Given the description of an element on the screen output the (x, y) to click on. 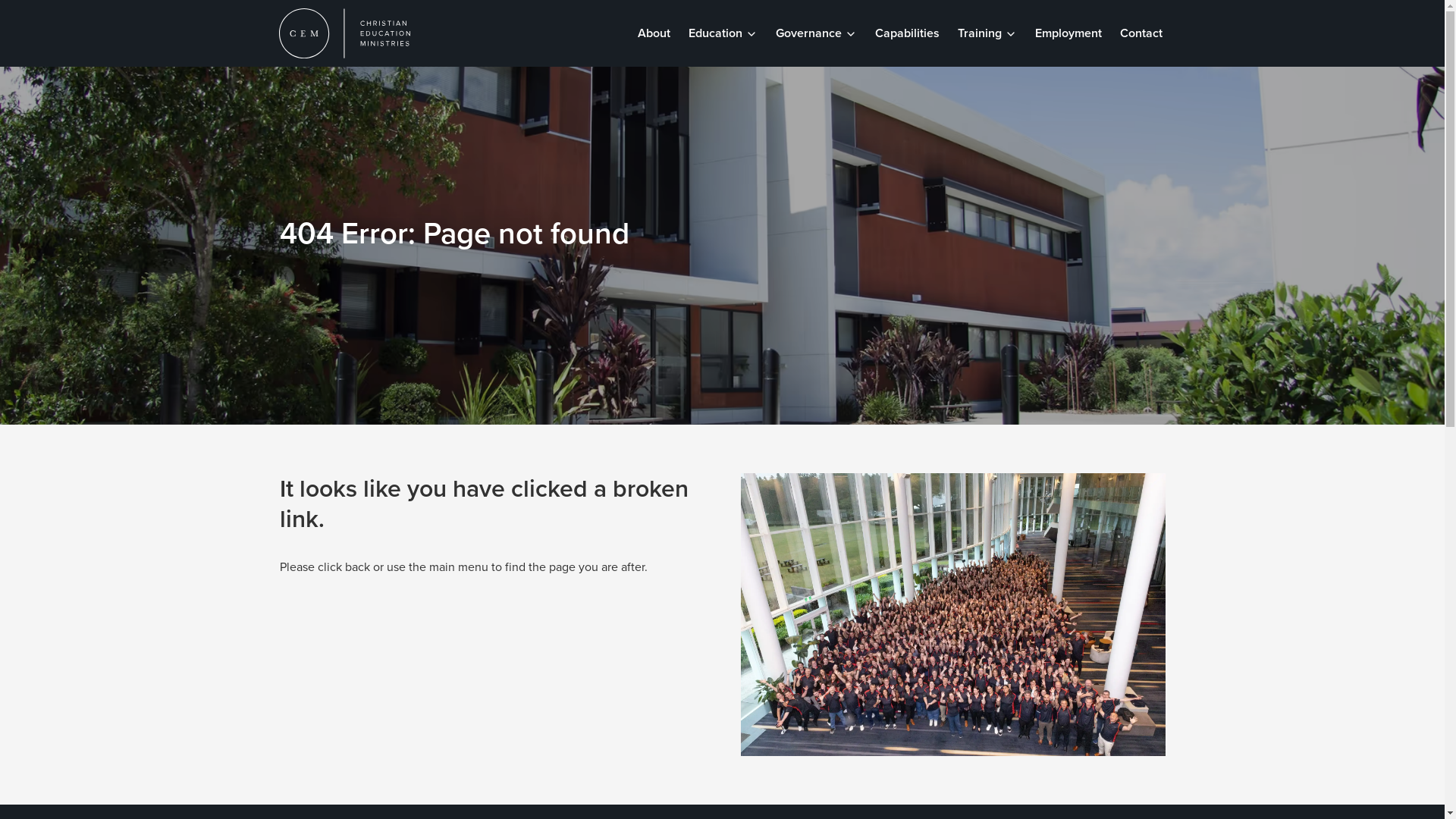
About Element type: text (653, 33)
Employment Element type: text (1067, 33)
Contact Element type: text (1140, 33)
Capabilities Element type: text (907, 33)
